Given the description of an element on the screen output the (x, y) to click on. 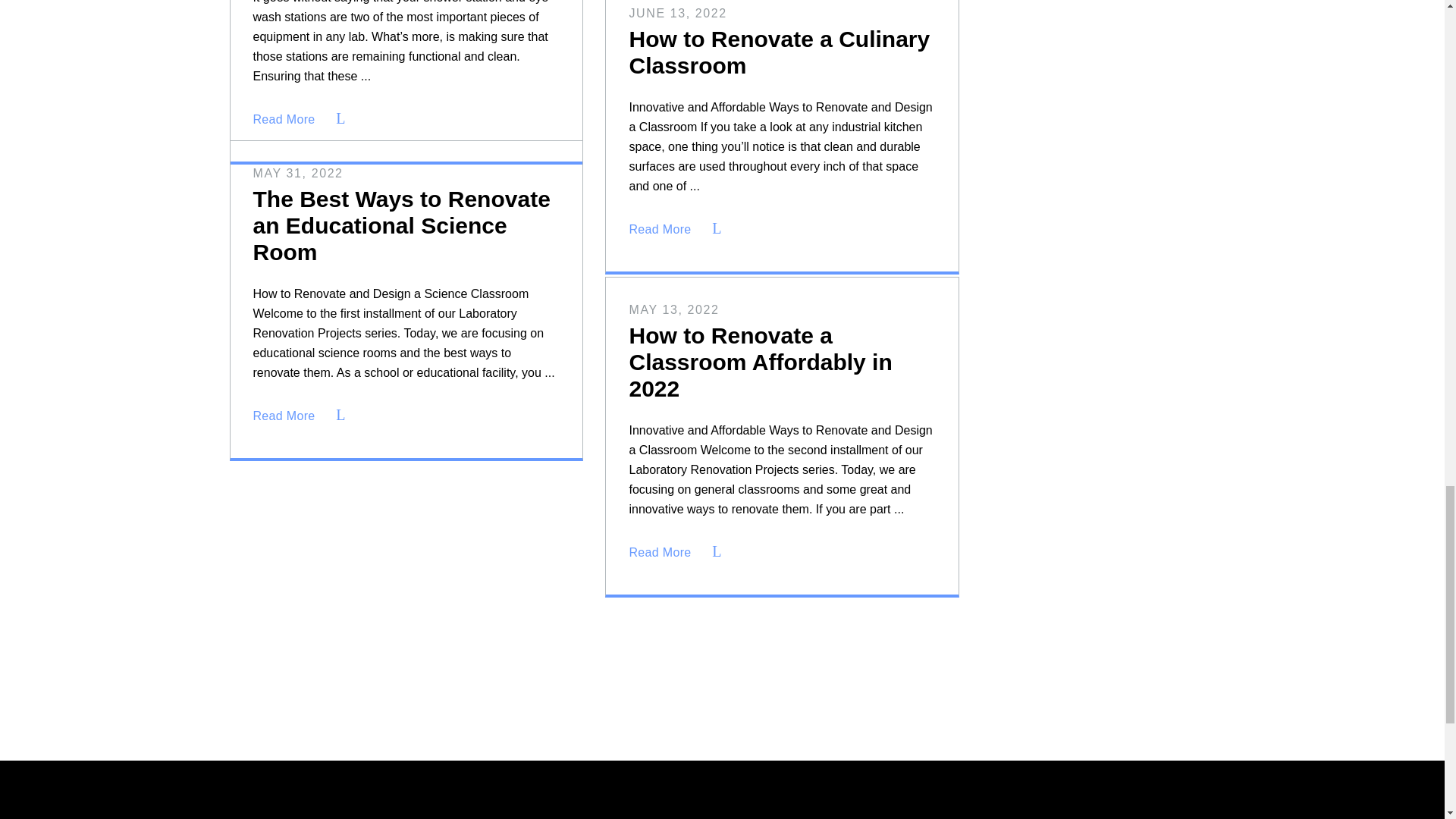
The Best Ways to Renovate an Educational Science Room (401, 225)
How to Renovate a Culinary Classroom (779, 51)
How to Renovate a Classroom Affordably in 2022 (759, 361)
